Given the description of an element on the screen output the (x, y) to click on. 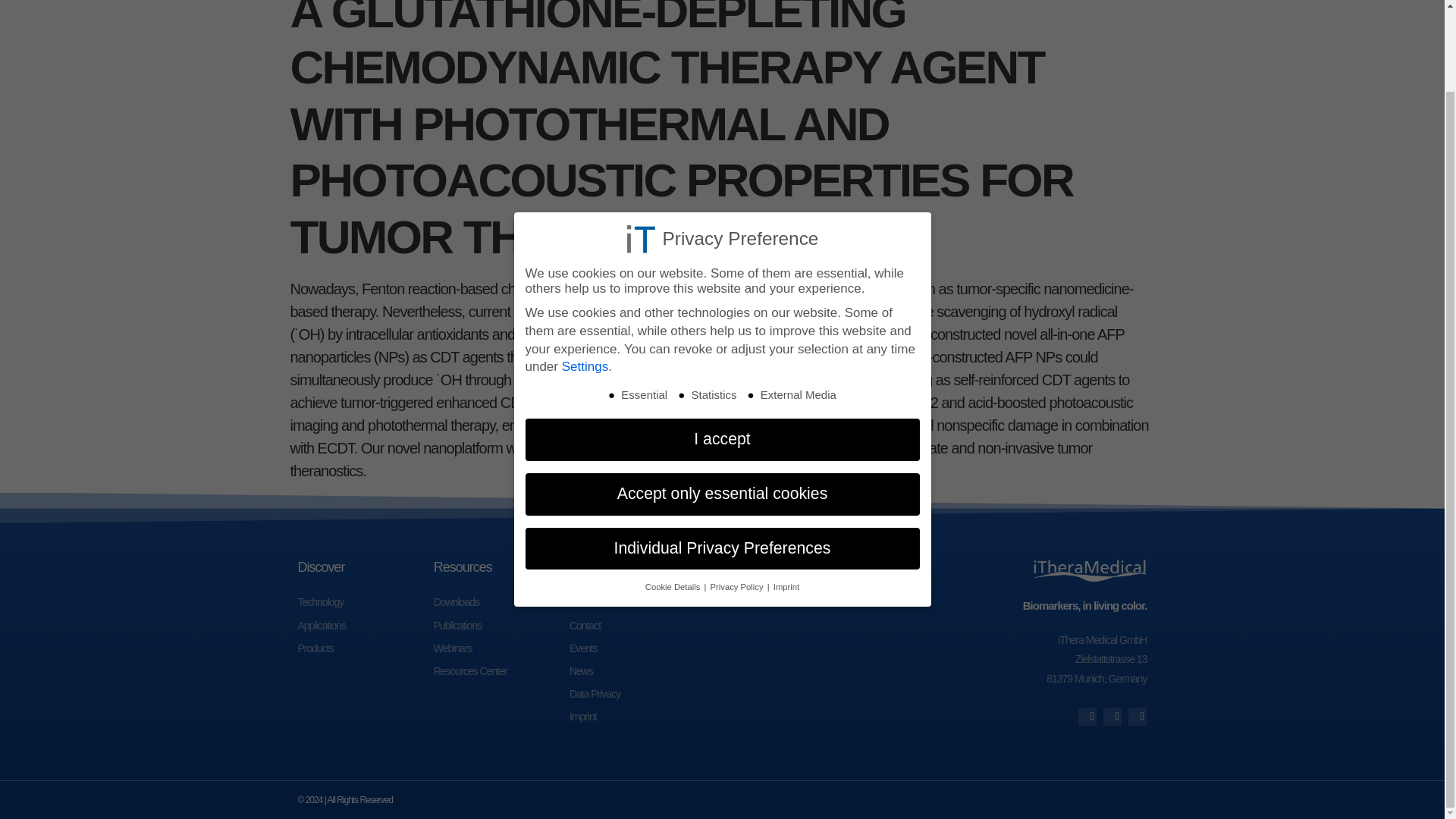
Resources Center (501, 670)
Careers (636, 601)
Applications (364, 625)
Products (364, 648)
Publications (501, 625)
Downloads (501, 601)
Webinars (501, 648)
Technology (364, 601)
